Given the description of an element on the screen output the (x, y) to click on. 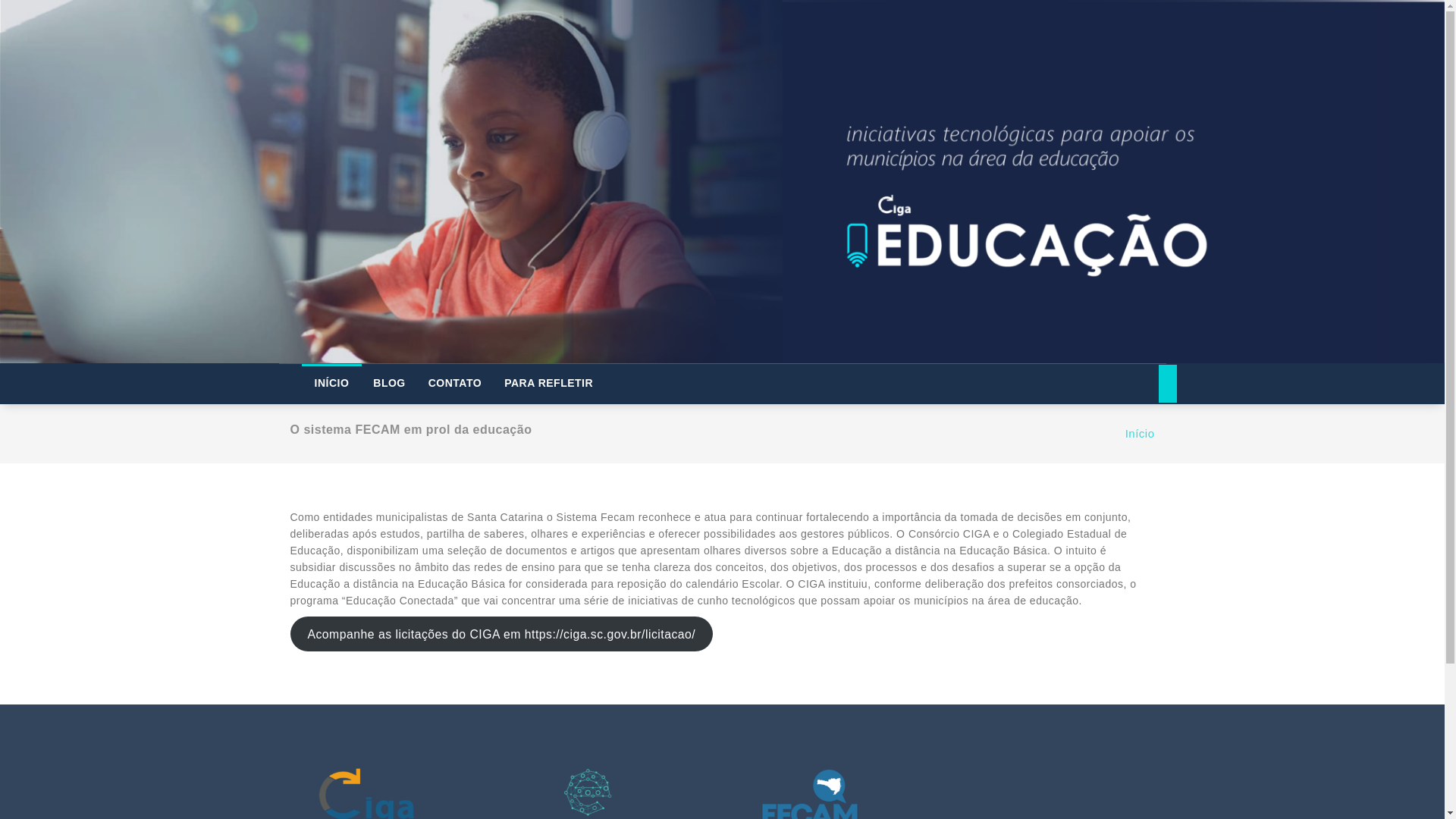
PARA REFLETIR (548, 382)
BLOG (388, 382)
CONTATO (454, 382)
